Given the description of an element on the screen output the (x, y) to click on. 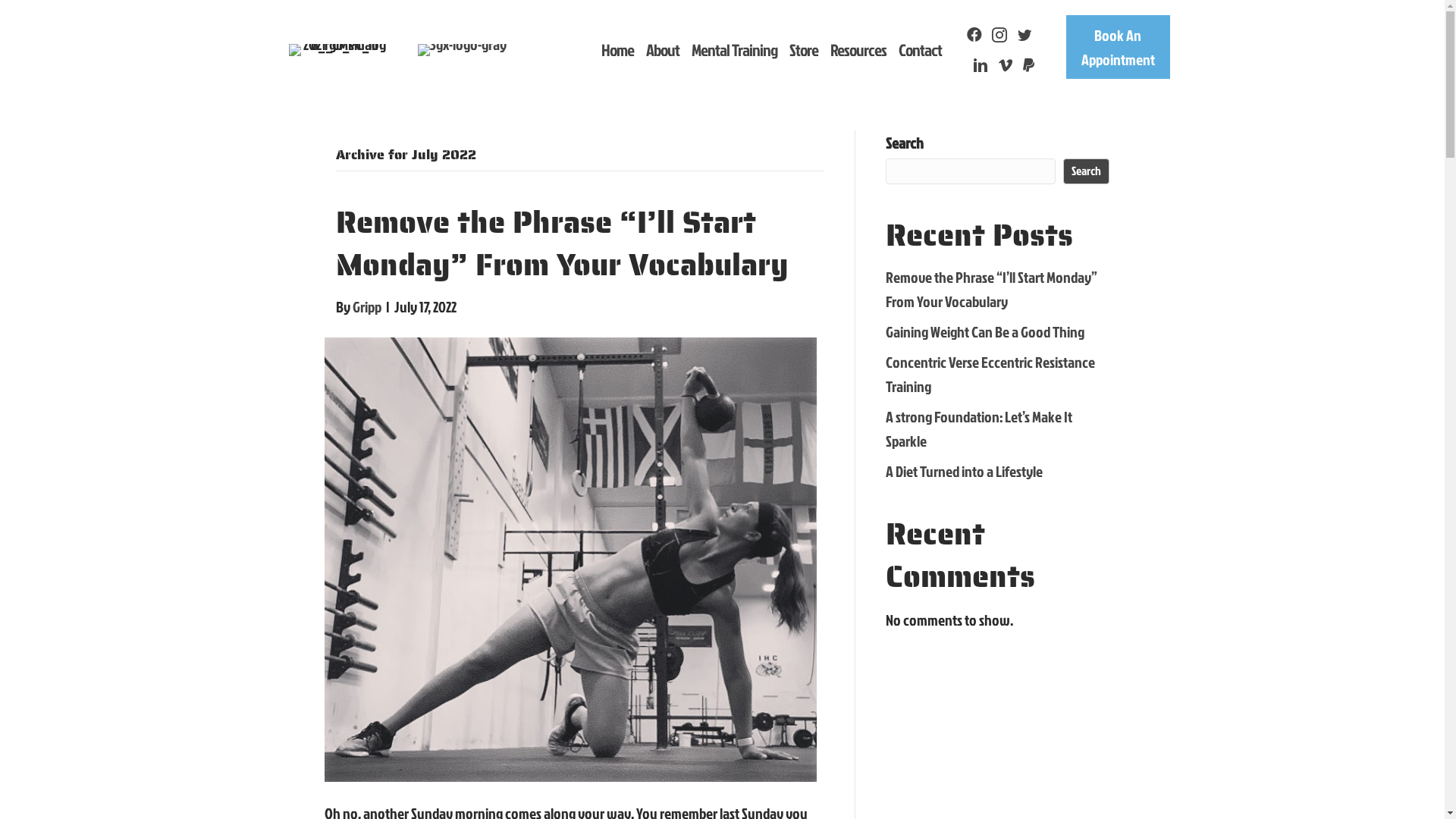
Mental Training Element type: text (734, 49)
Search Element type: text (1086, 171)
2021_CMPC_logo_rgb_small Element type: hover (337, 49)
Gripp Element type: text (365, 305)
About Element type: text (662, 49)
Concentric Verse Eccentric Resistance Training Element type: text (990, 373)
A Diet Turned into a Lifestyle Element type: text (963, 470)
Gaining Weight Can Be a Good Thing Element type: text (984, 331)
Store Element type: text (803, 49)
Contact Element type: text (919, 49)
Resources Element type: text (858, 49)
3gx-logo-gray Element type: hover (461, 49)
Home Element type: text (617, 49)
Book An Appointment Element type: text (1118, 46)
